Given the description of an element on the screen output the (x, y) to click on. 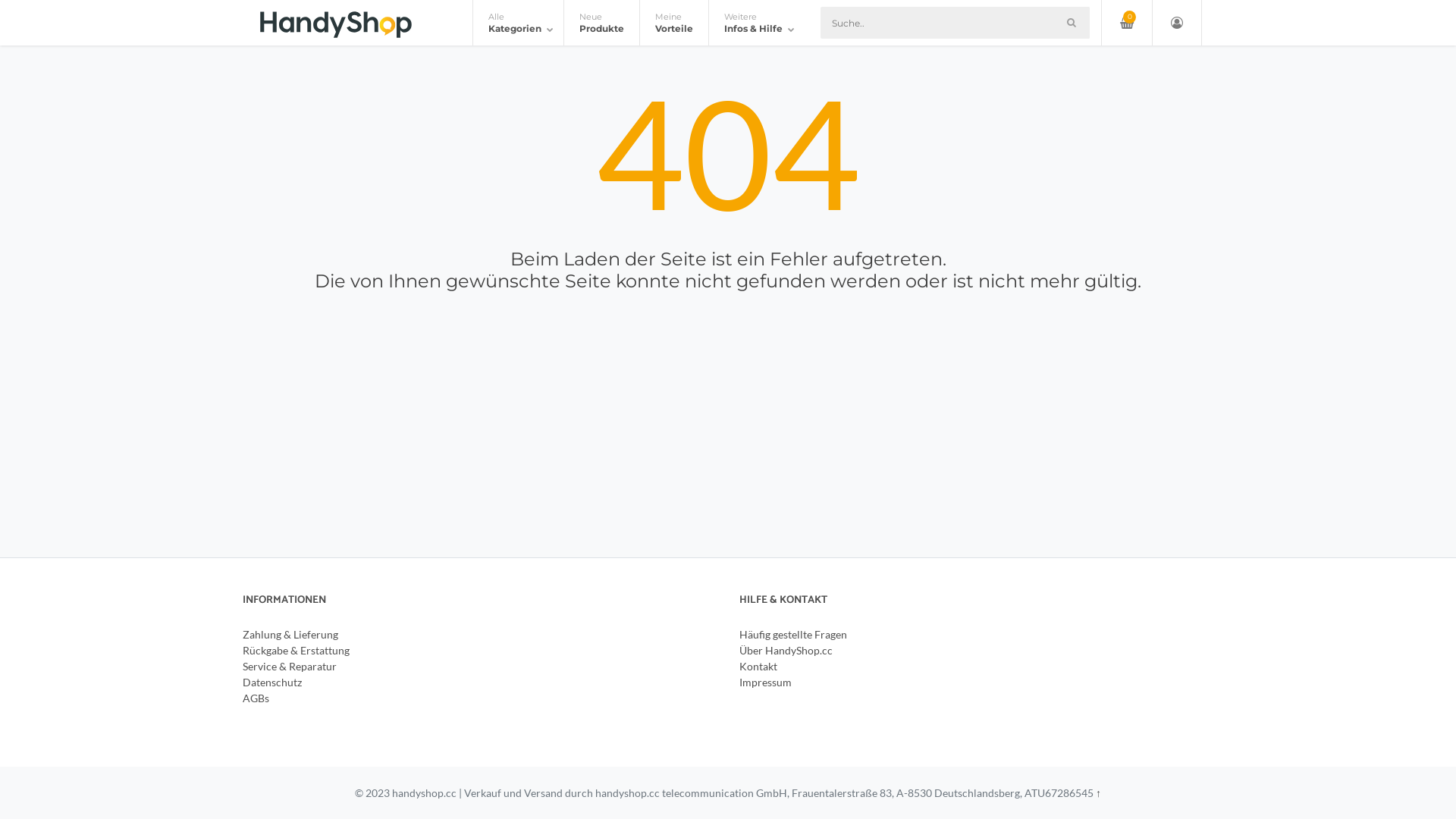
0 Element type: text (1126, 22)
Impressum Element type: text (765, 681)
Alle
Kategorien Element type: text (518, 22)
Neue
Produkte Element type: text (600, 22)
Datenschutz Element type: text (271, 681)
Zahlung & Lieferung Element type: text (290, 633)
Kontakt Element type: text (758, 665)
Meine
Vorteile Element type: text (672, 22)
Service & Reparatur Element type: text (289, 665)
AGBs Element type: text (255, 697)
Weitere
Infos & Hilfe Element type: text (756, 22)
